Given the description of an element on the screen output the (x, y) to click on. 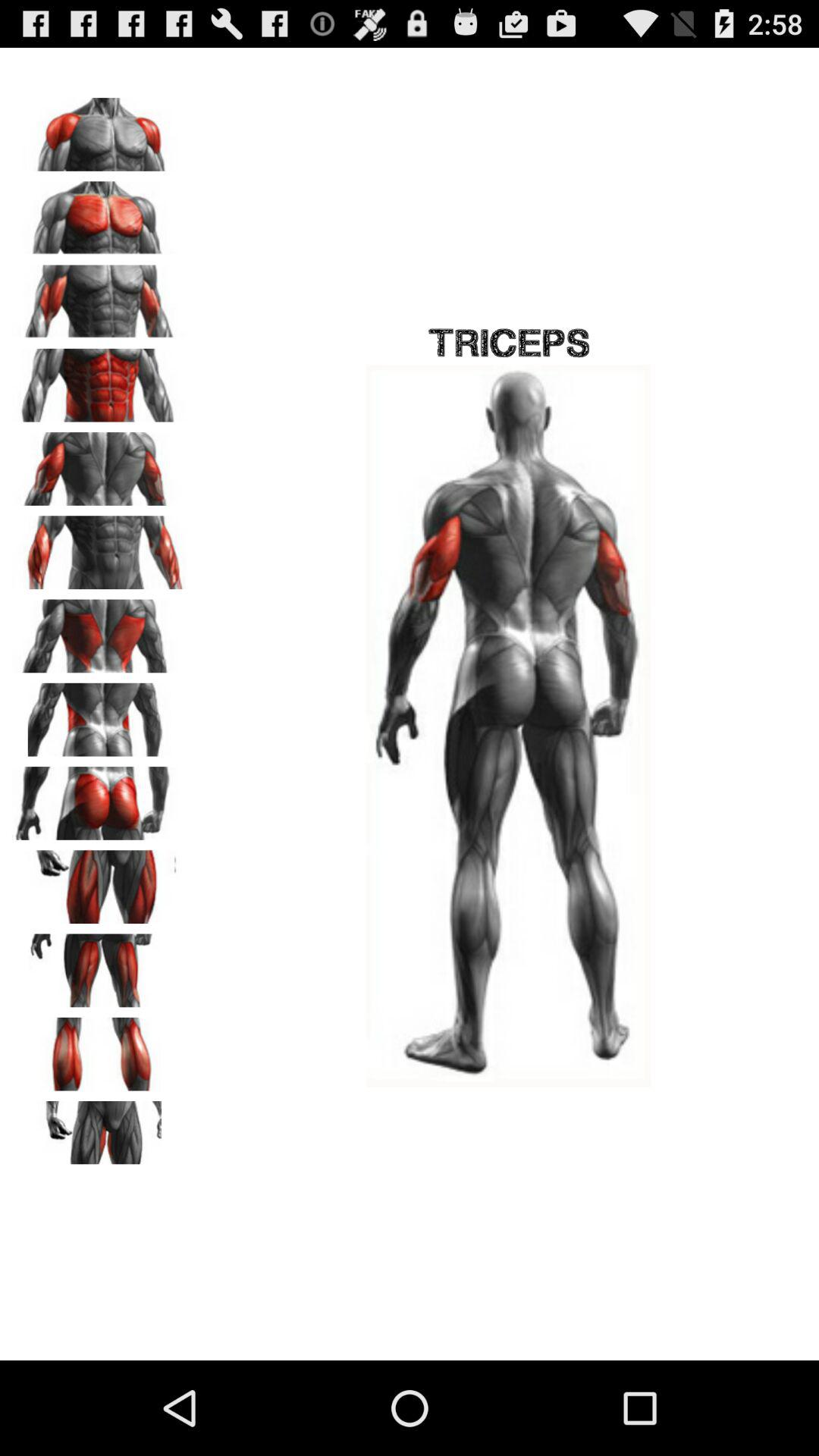
select to know more (99, 547)
